Given the description of an element on the screen output the (x, y) to click on. 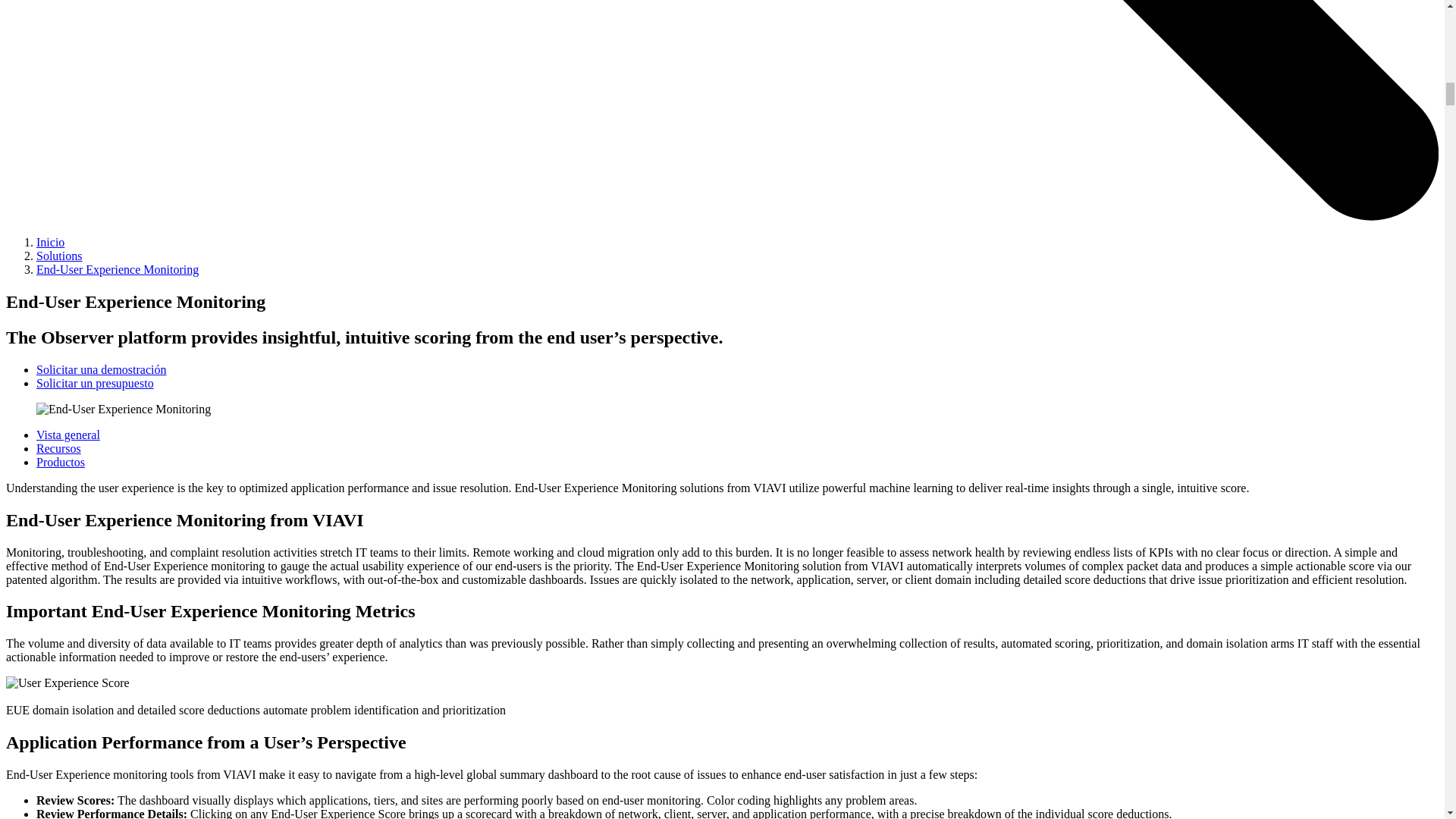
User Experience Score (67, 683)
End-User Experience Monitoring (123, 409)
